Given the description of an element on the screen output the (x, y) to click on. 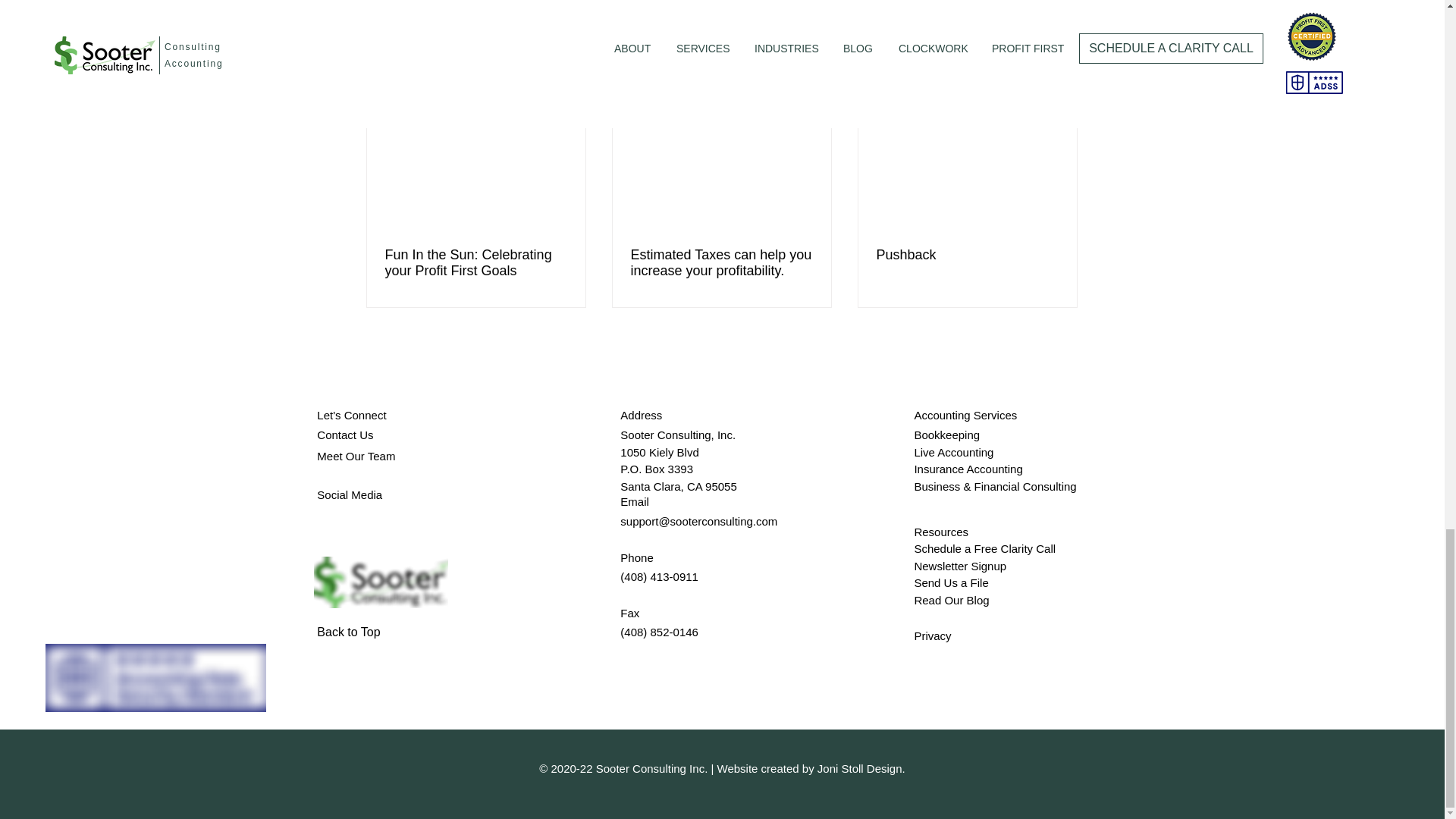
Meet Our Team (355, 454)
Estimated Taxes can help you increase your profitability. (721, 263)
Pushback (967, 254)
Fun In the Sun: Celebrating your Profit First Goals (476, 263)
See All (1061, 78)
Contact Us (344, 434)
